Given the description of an element on the screen output the (x, y) to click on. 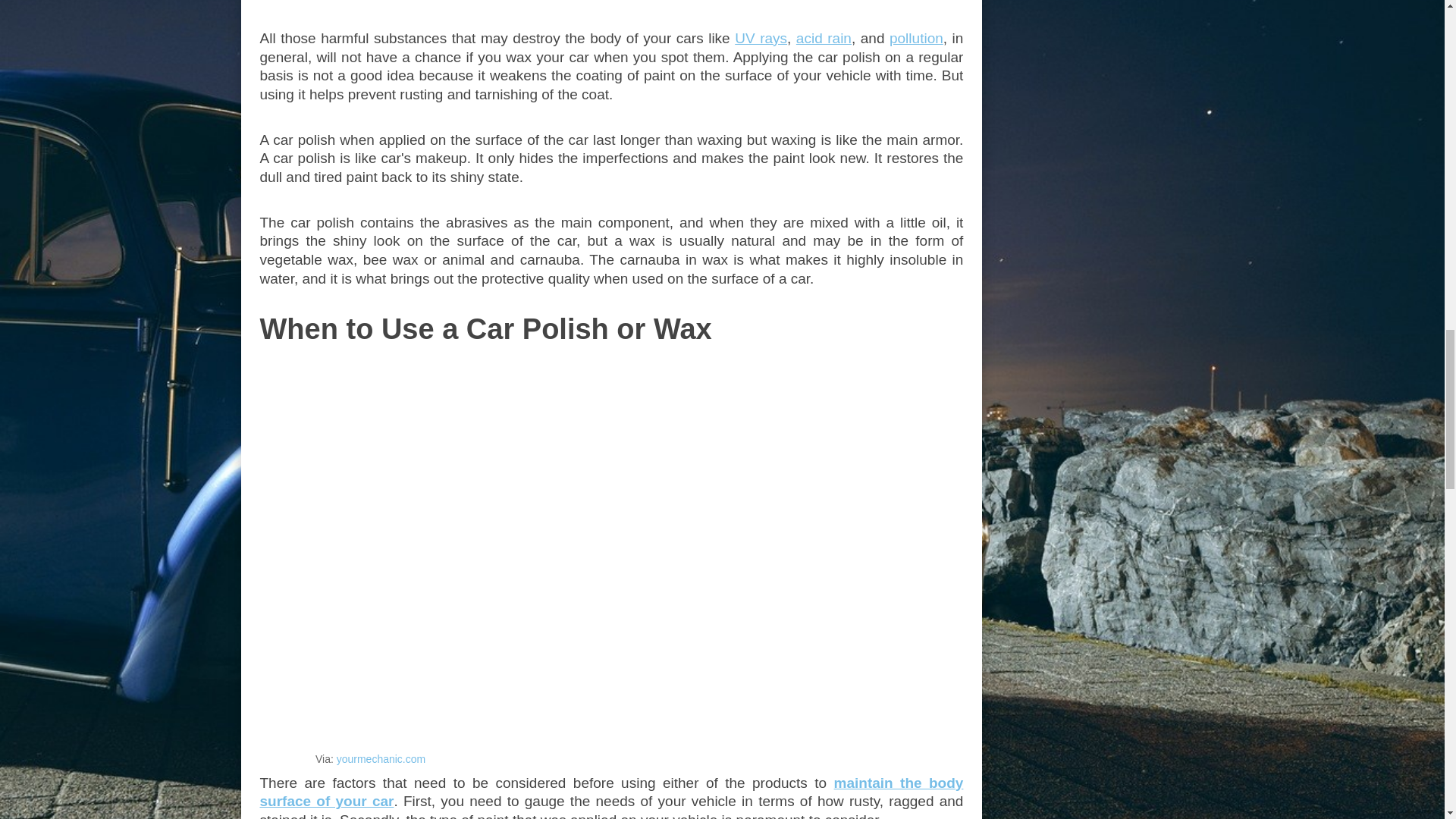
acid rain (823, 37)
UV rays (761, 37)
maintain the body surface of your car (610, 791)
yourmechanic.com (381, 758)
pollution (916, 37)
